Given the description of an element on the screen output the (x, y) to click on. 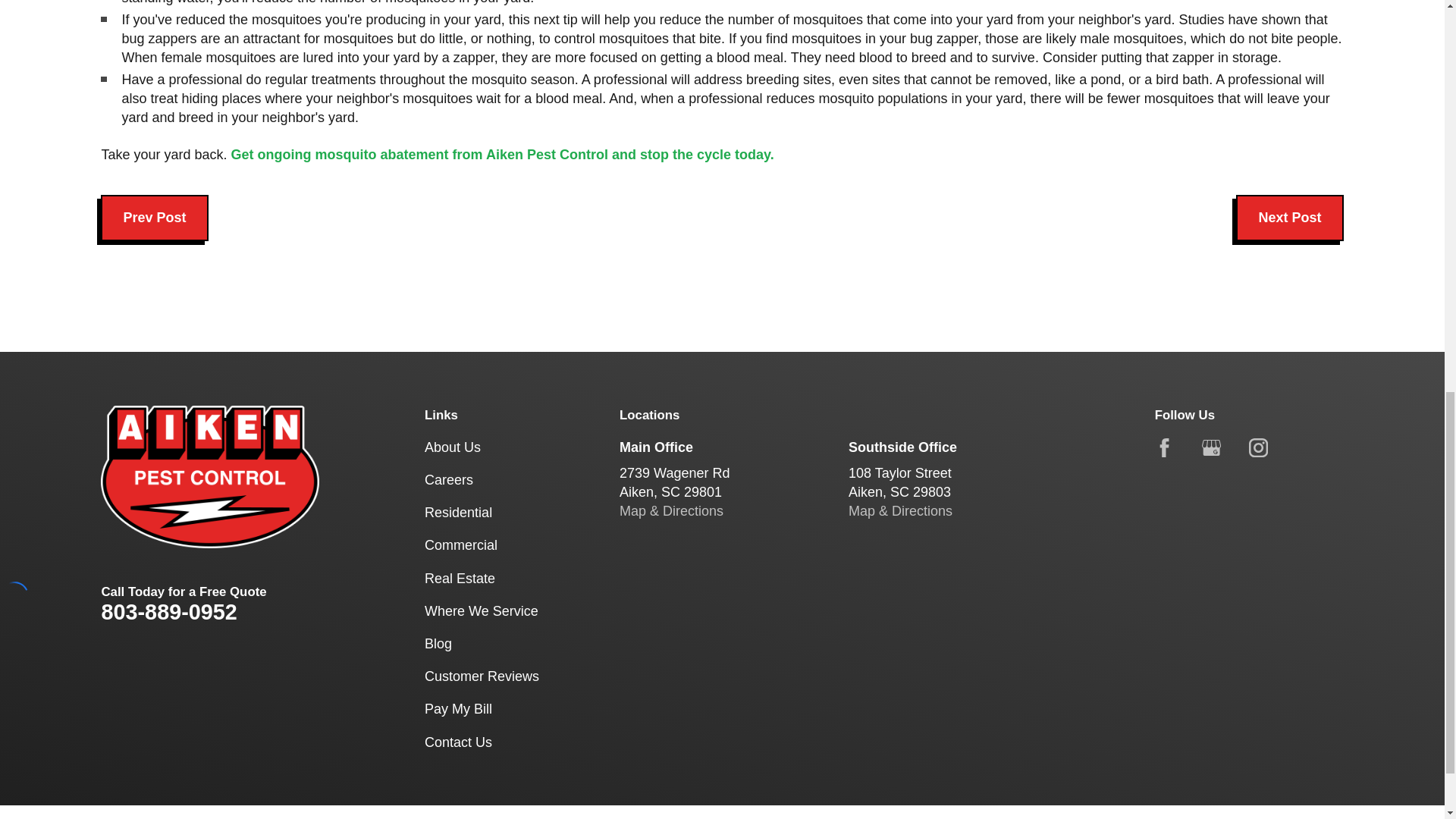
Facebook (1163, 447)
Instagram (1258, 447)
Home (209, 476)
Google Business Profile (1211, 447)
